Given the description of an element on the screen output the (x, y) to click on. 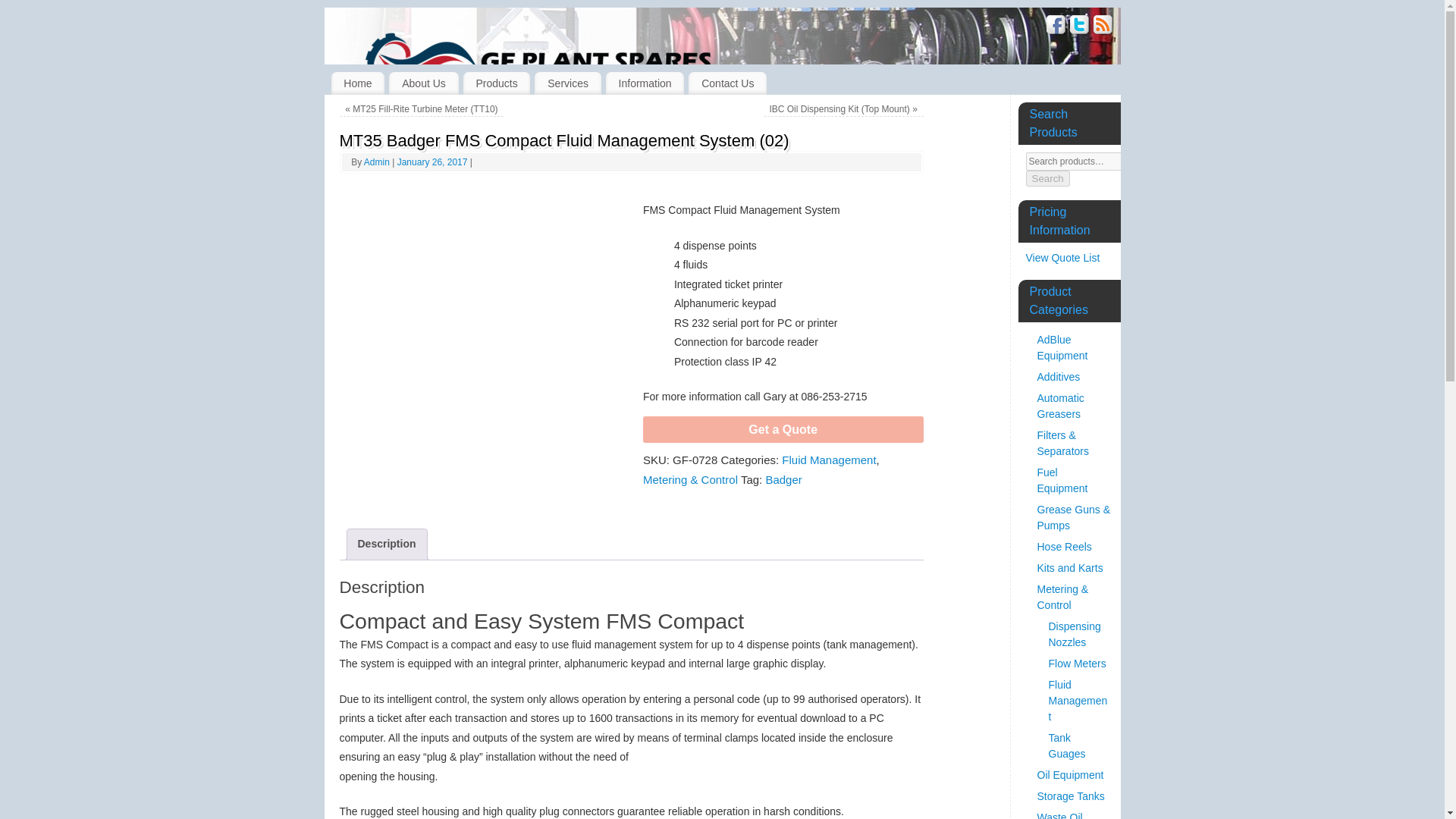
Get a Quote (783, 429)
Home (357, 83)
Fuel Equipment (1061, 480)
View Quote List (1062, 257)
10:41 pm (433, 162)
Information (644, 83)
Search (1046, 178)
Fluid Management (828, 459)
About Us (423, 83)
Services (566, 83)
Contact Us (727, 83)
View all posts by Admin (377, 162)
Additives (1058, 377)
Admin (377, 162)
AdBlue Equipment (1061, 347)
